Given the description of an element on the screen output the (x, y) to click on. 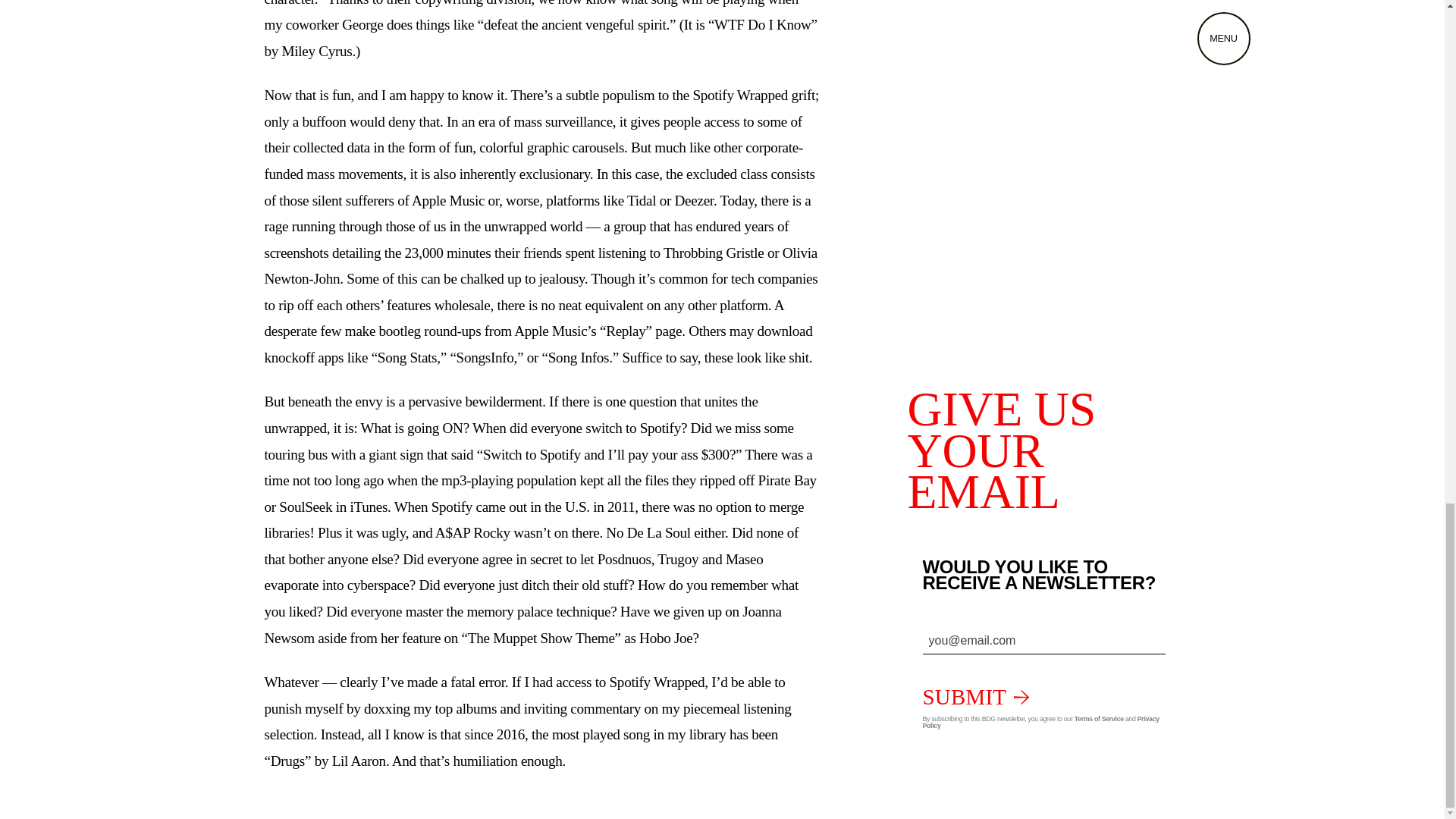
Terms of Service (1099, 718)
Privacy Policy (1039, 722)
SUBMIT (975, 696)
